Given the description of an element on the screen output the (x, y) to click on. 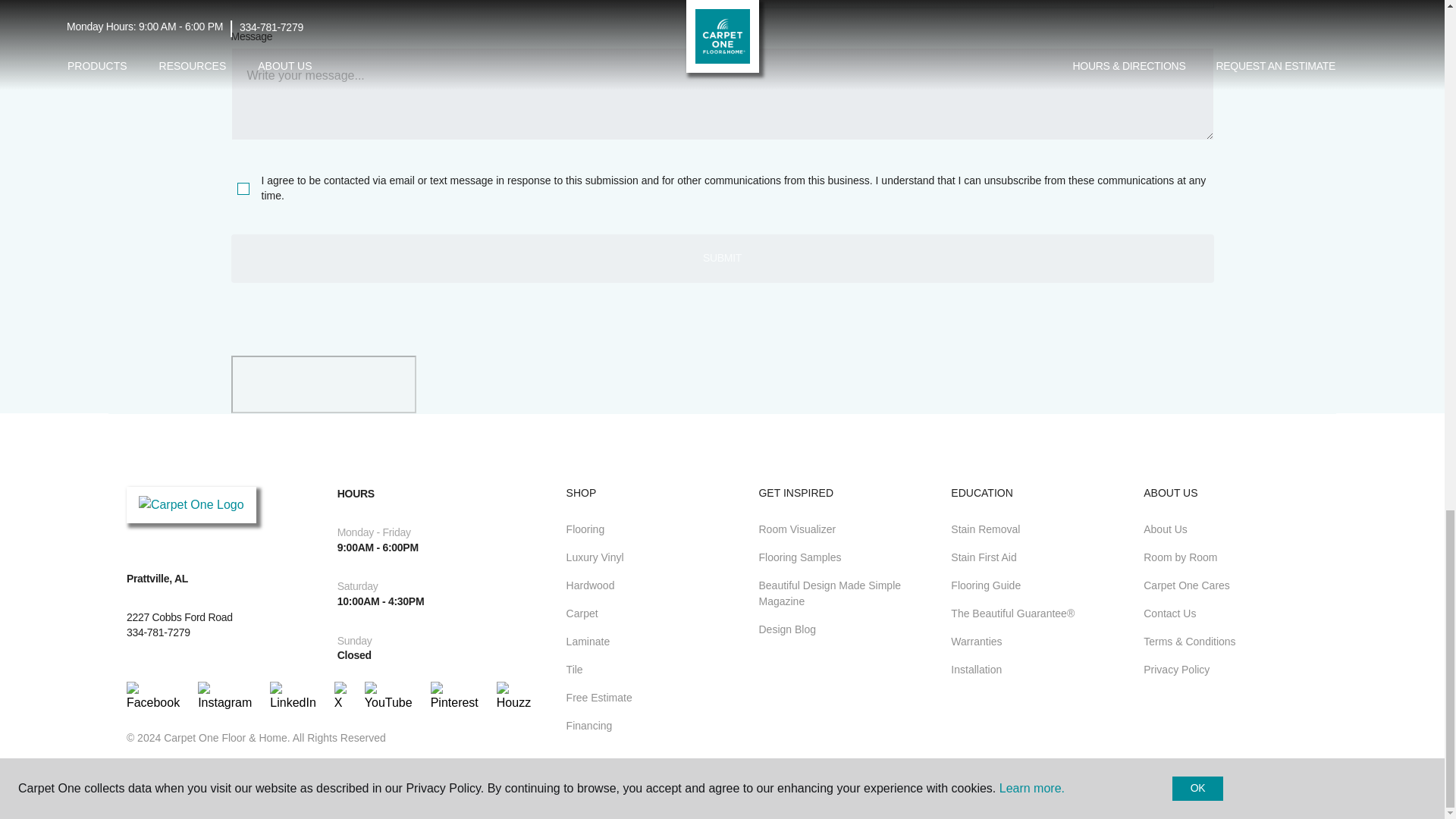
PostalCode (471, 4)
MyMessage (721, 93)
